Given the description of an element on the screen output the (x, y) to click on. 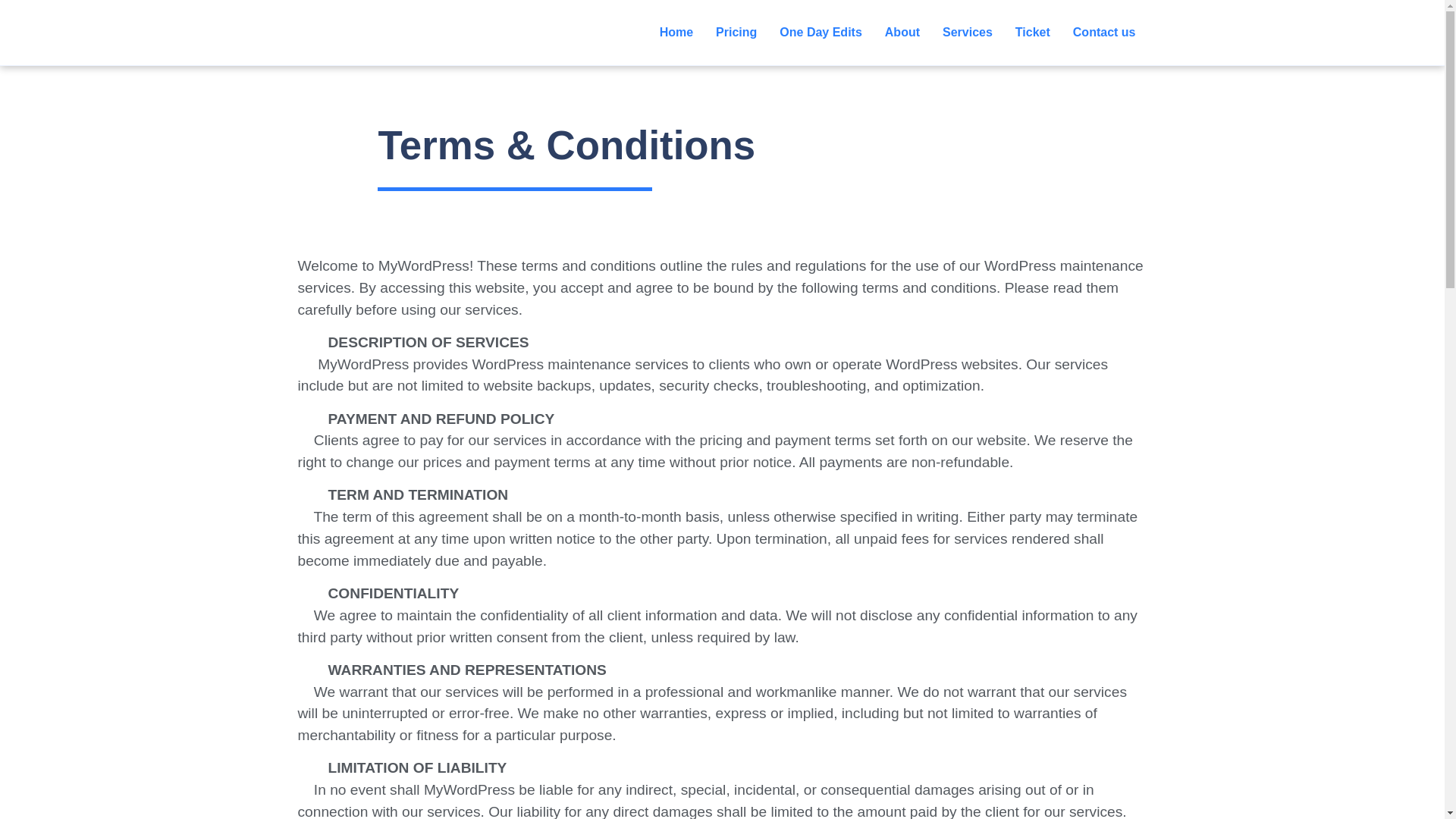
Home (675, 32)
Pricing (736, 32)
One Day Edits (820, 32)
About (902, 32)
Contact us (1104, 32)
Services (967, 32)
Ticket (1032, 32)
